Given the description of an element on the screen output the (x, y) to click on. 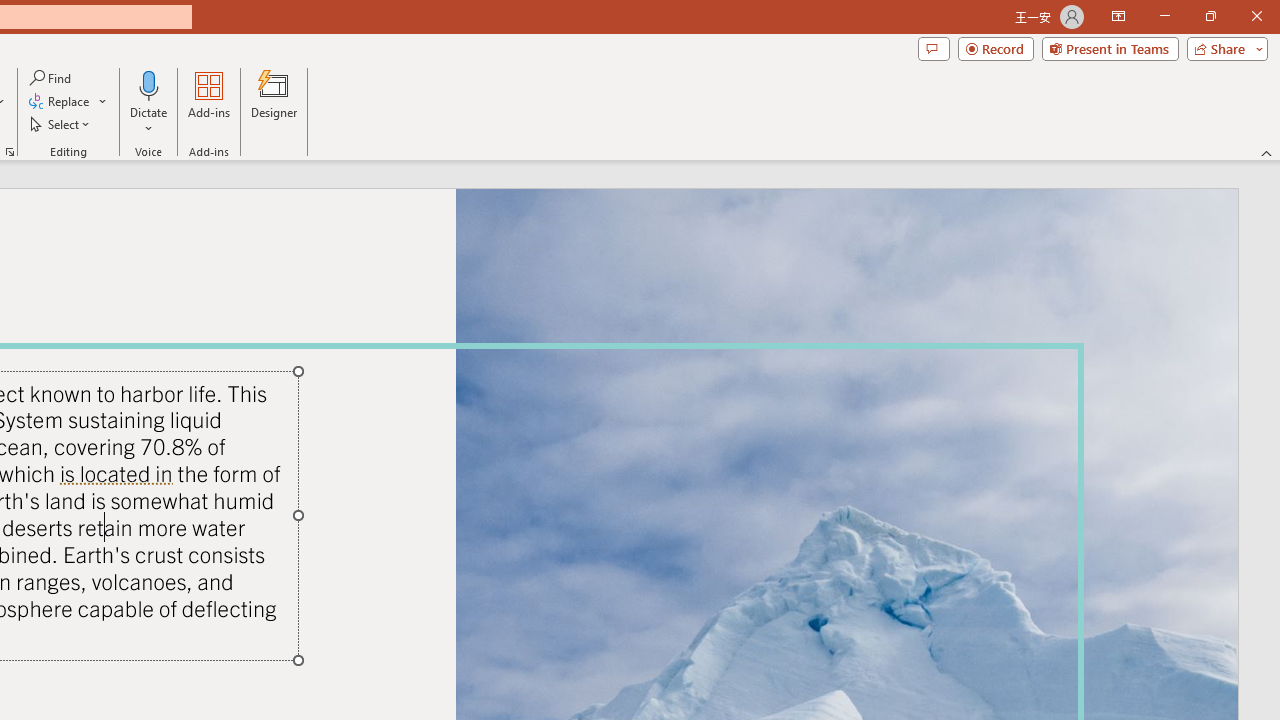
Class: NetUITextbox (210, 468)
Class: NetUIAnchor (470, 483)
